Given the description of an element on the screen output the (x, y) to click on. 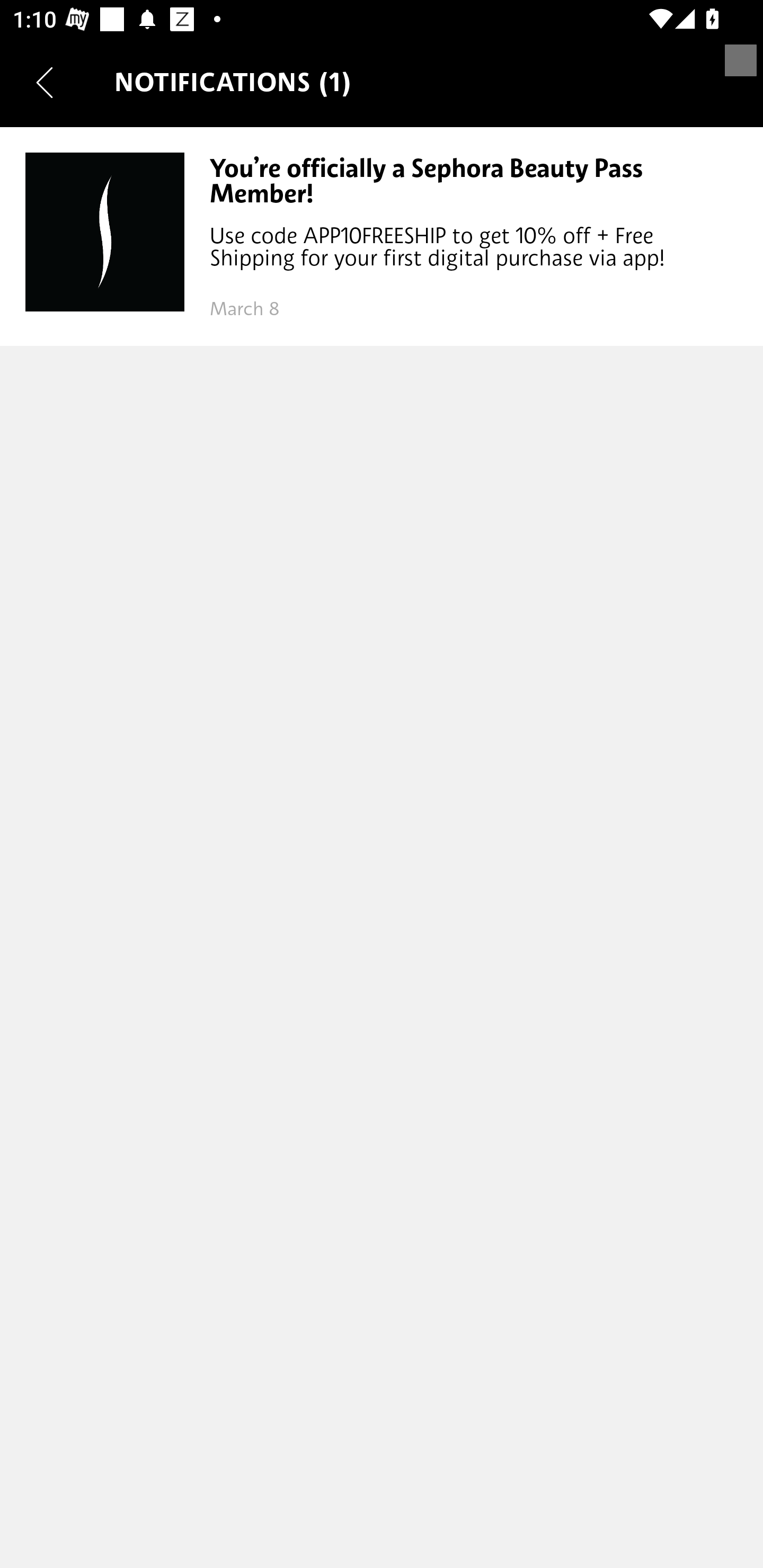
Navigate up (44, 82)
